Given the description of an element on the screen output the (x, y) to click on. 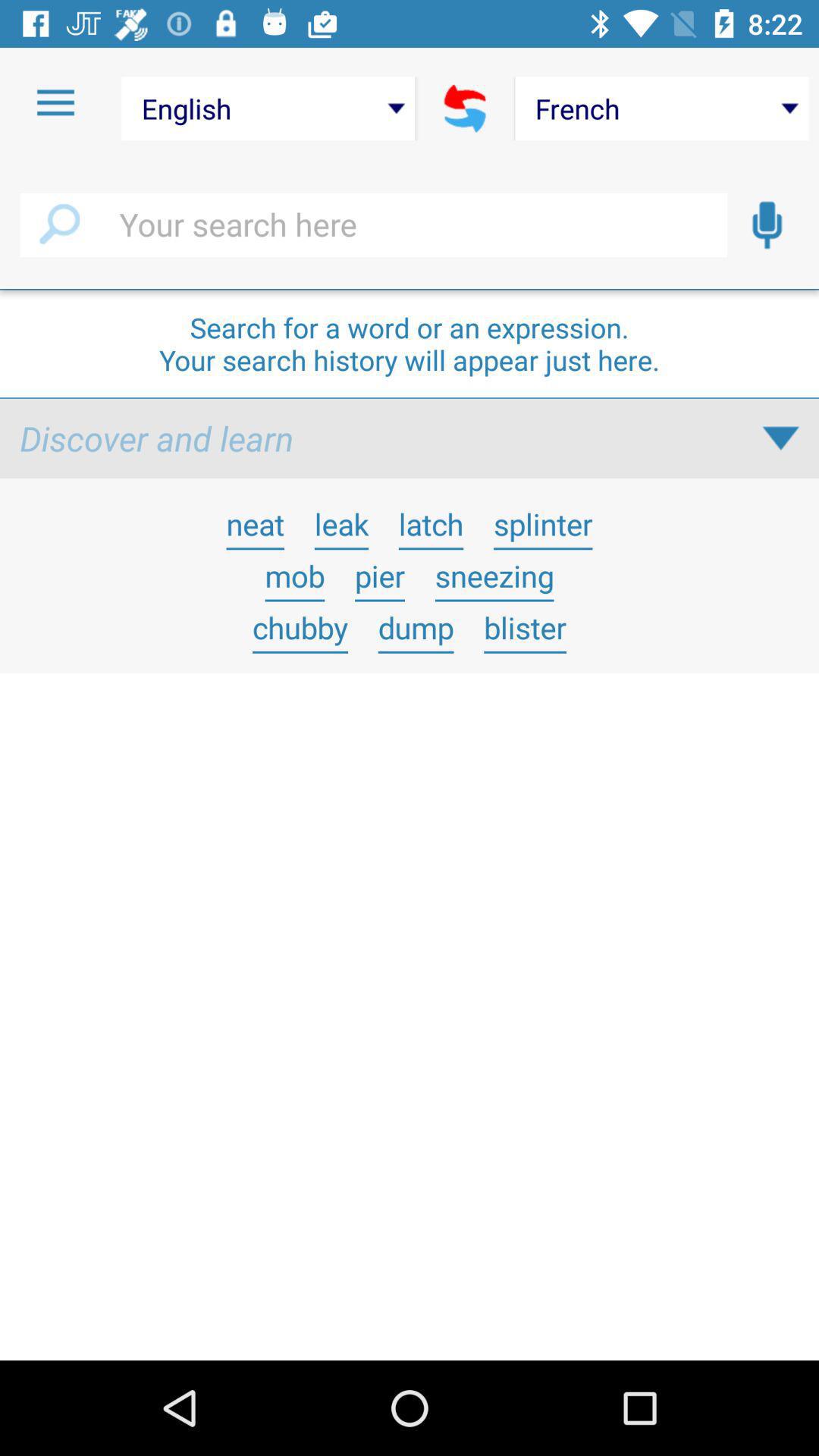
scroll to the sneezing (494, 575)
